Given the description of an element on the screen output the (x, y) to click on. 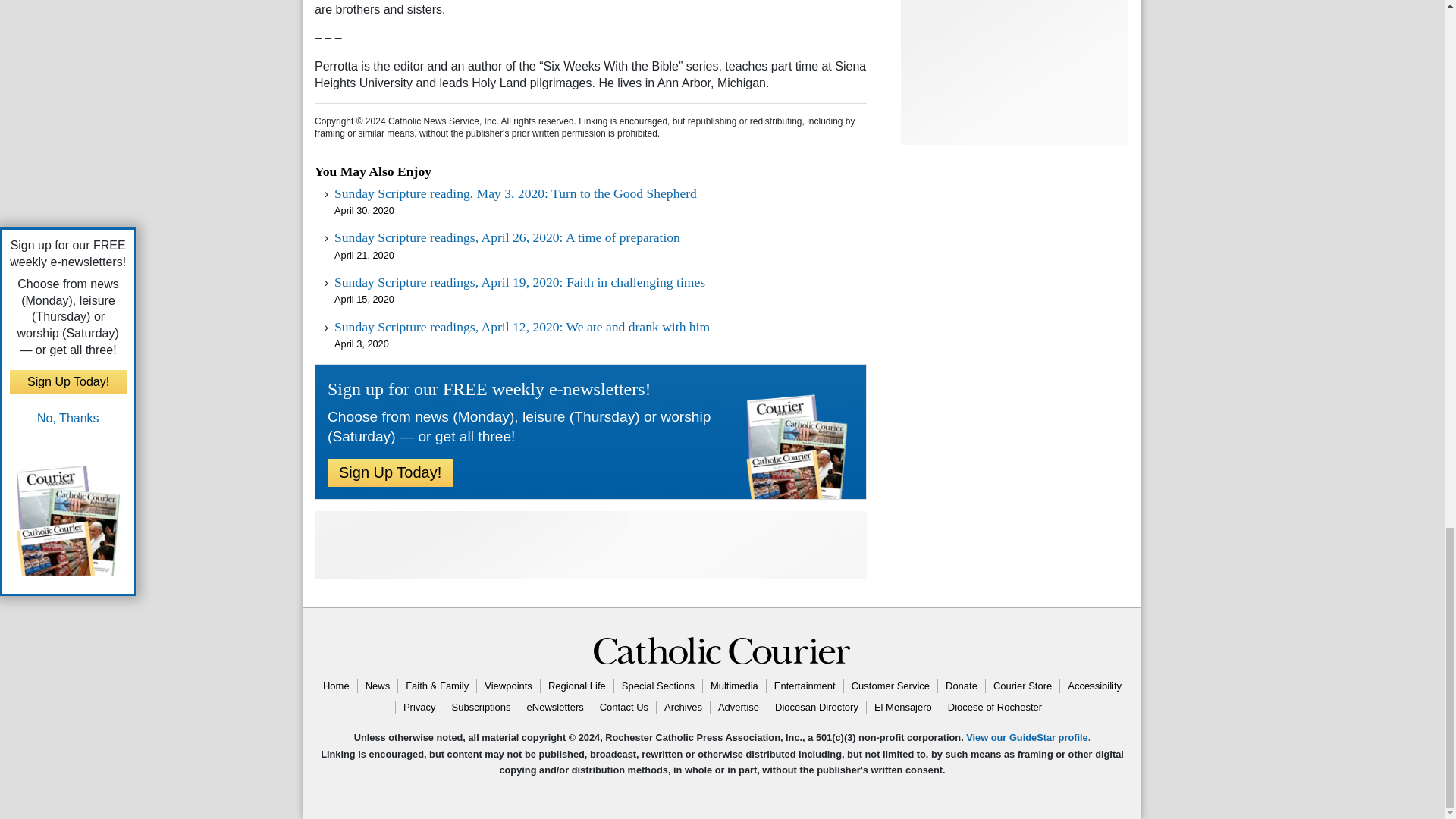
3rd party ad content (590, 545)
